Given the description of an element on the screen output the (x, y) to click on. 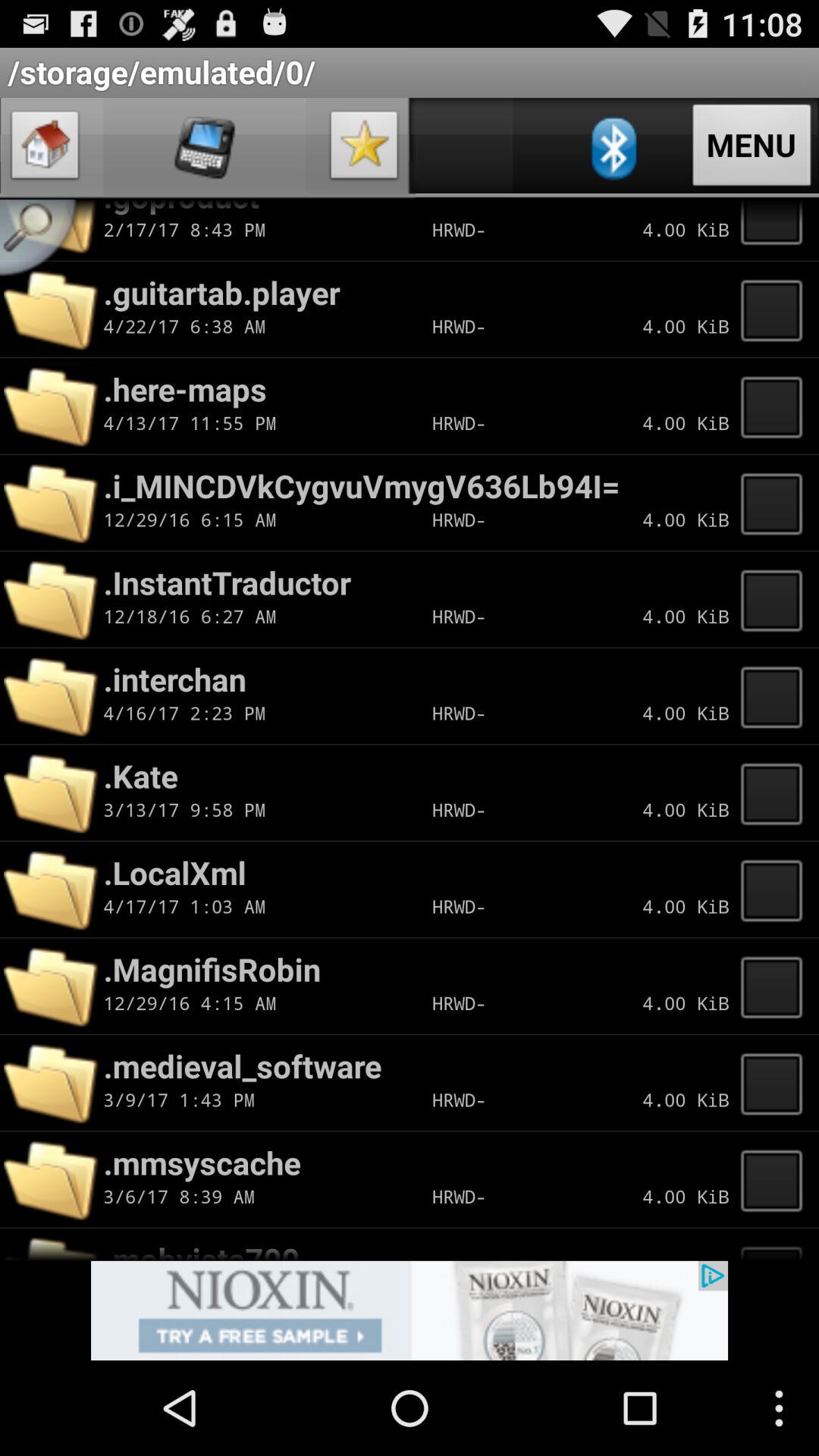
selection button (776, 1179)
